Given the description of an element on the screen output the (x, y) to click on. 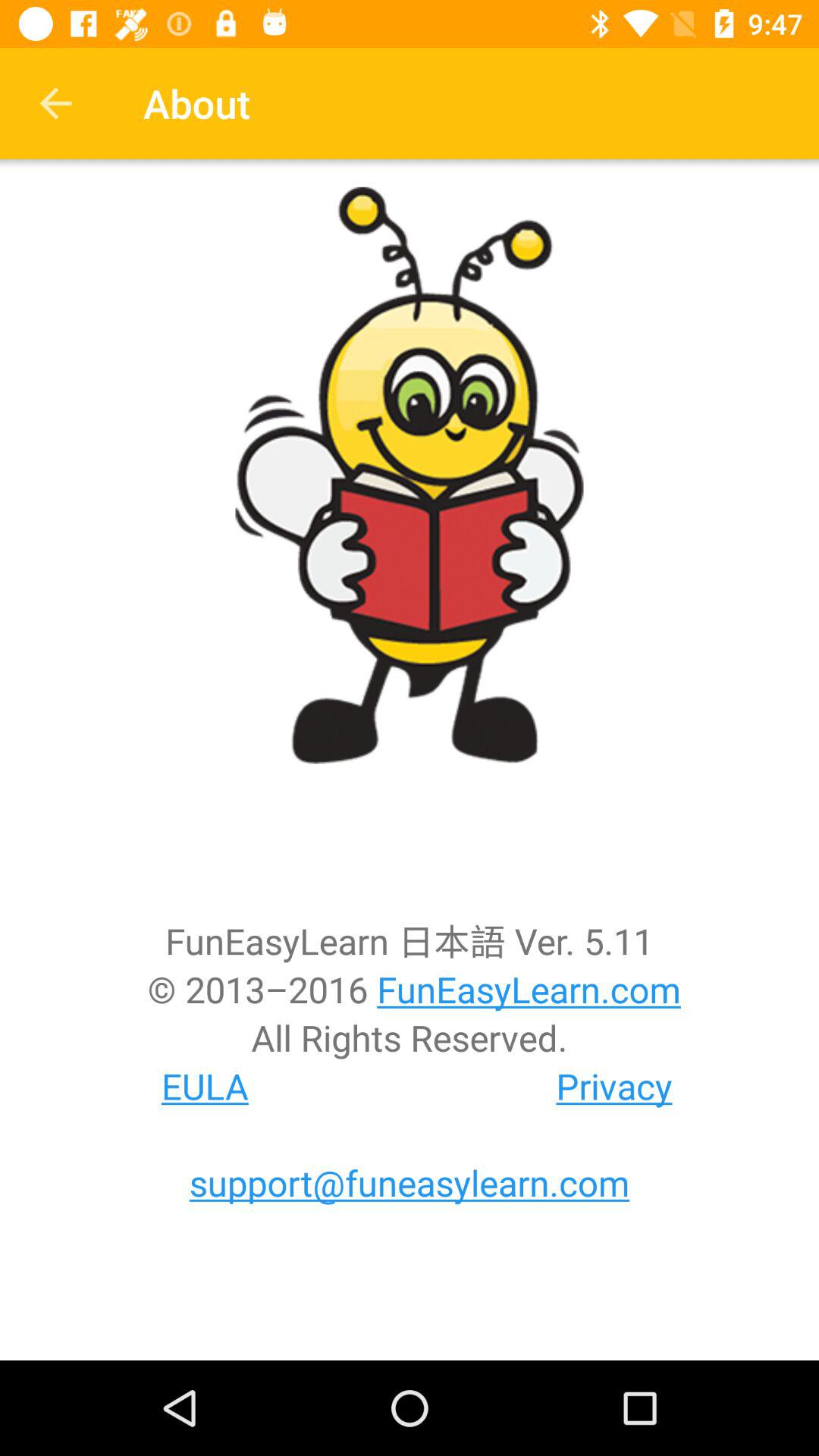
scroll to the 2013 2016 funeasylearn (409, 989)
